Given the description of an element on the screen output the (x, y) to click on. 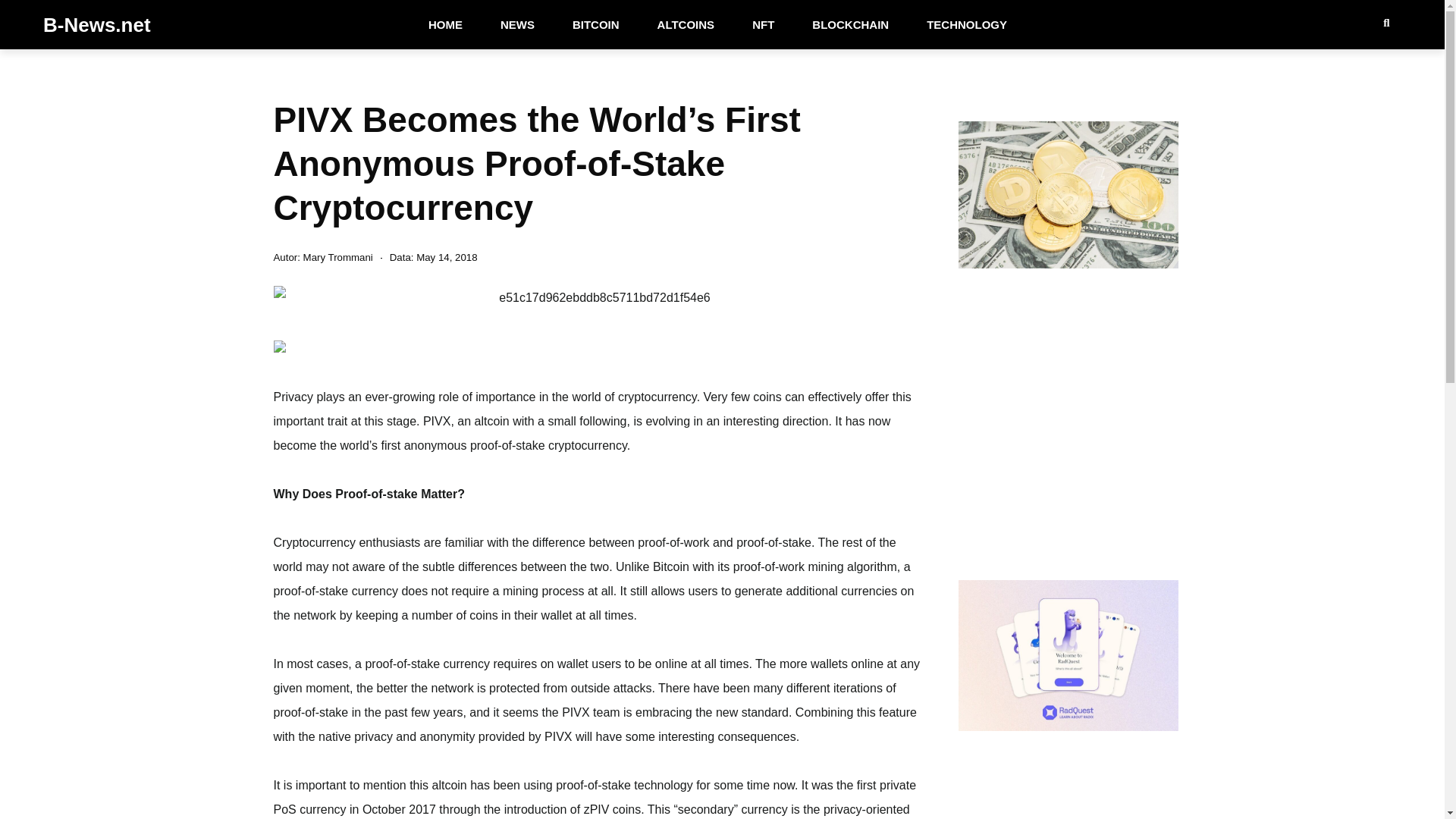
TECHNOLOGY (966, 24)
NFT (763, 24)
HOME (445, 24)
e51c17d962ebddb8c5711bd72d1f54e6 (598, 297)
ALTCOINS (686, 24)
BLOCKCHAIN (850, 24)
B-News.net (97, 24)
BITCOIN (596, 24)
NEWS (517, 24)
